Given the description of an element on the screen output the (x, y) to click on. 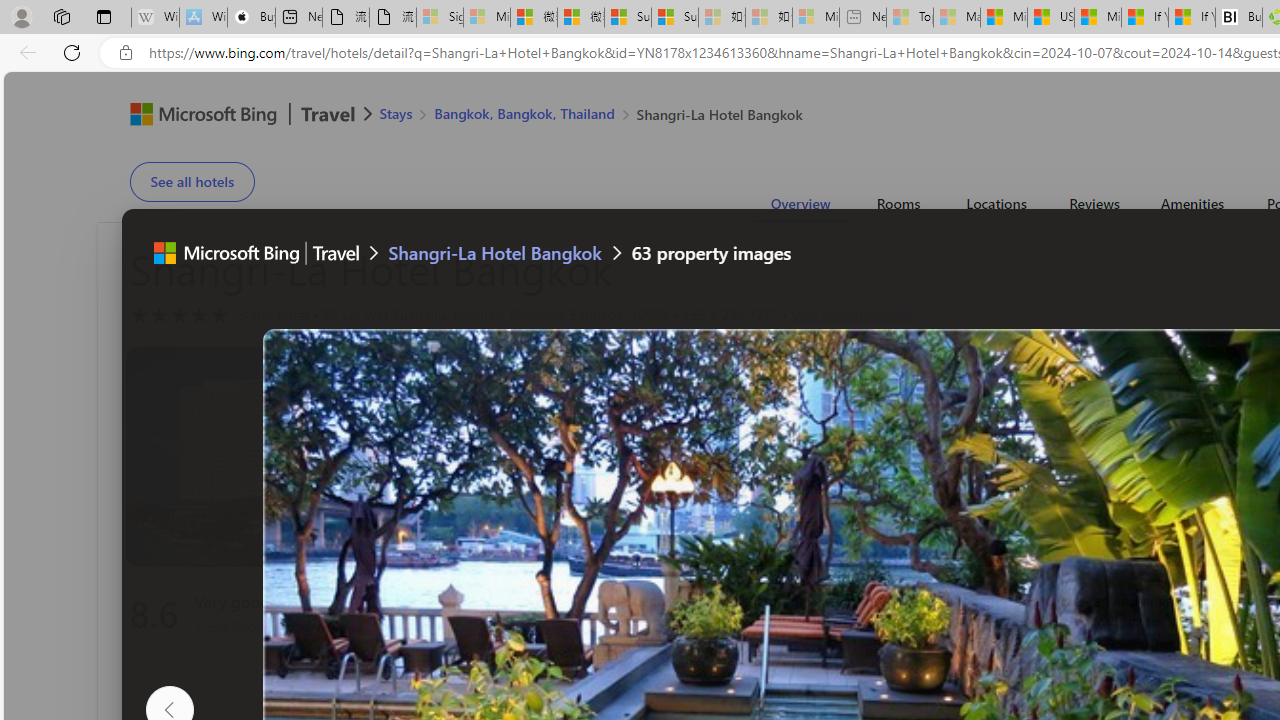
Buy iPad - Apple (251, 17)
Sign in to your Microsoft account - Sleeping (440, 17)
